Given the description of an element on the screen output the (x, y) to click on. 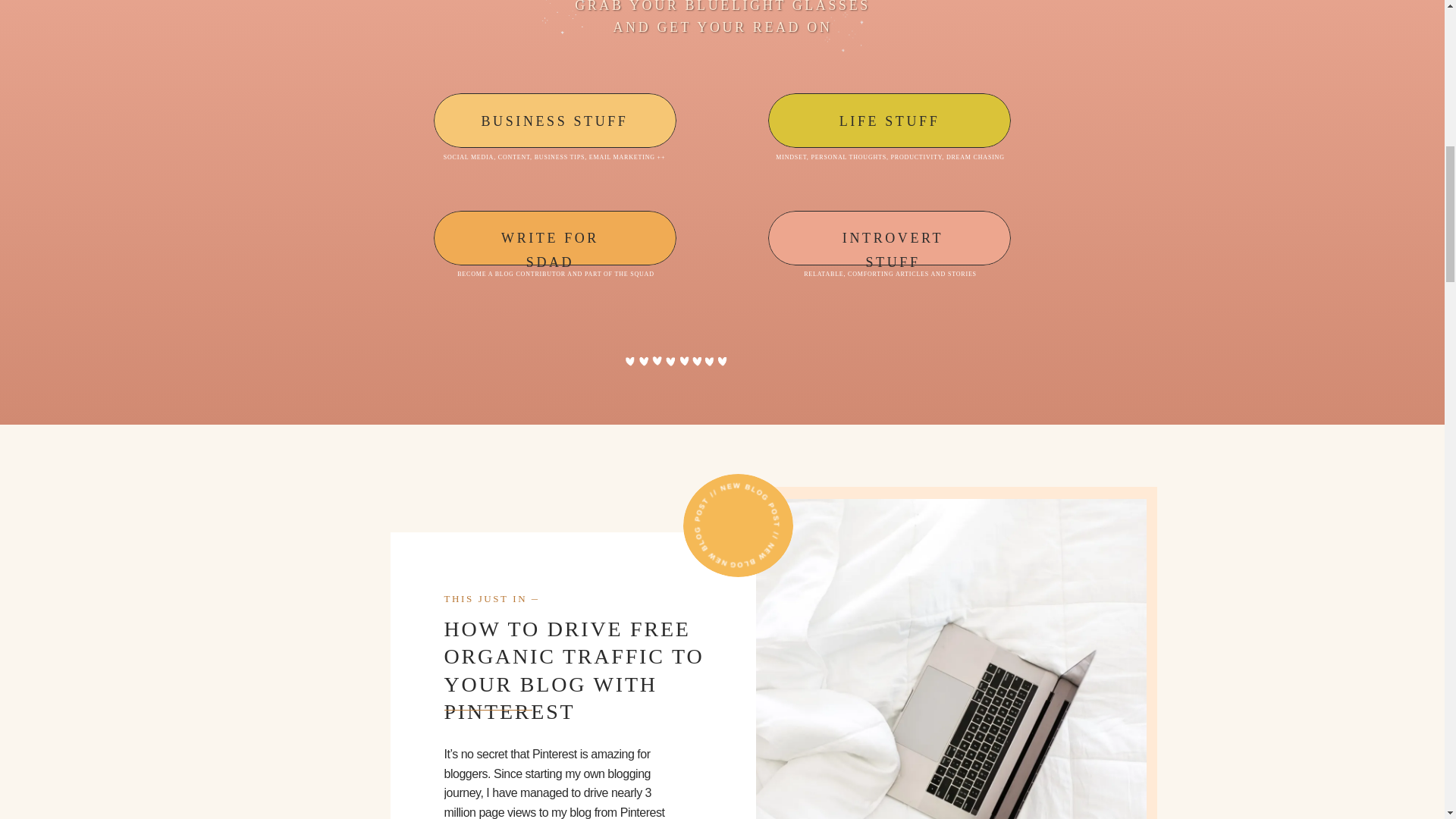
LIFE STUFF (889, 116)
BUSINESS STUFF (554, 116)
INTROVERT STUFF (892, 233)
GRAB YOUR BLUELIGHT GLASSES AND GET YOUR READ ON (722, 18)
WRITE FOR SDAD (550, 233)
